Given the description of an element on the screen output the (x, y) to click on. 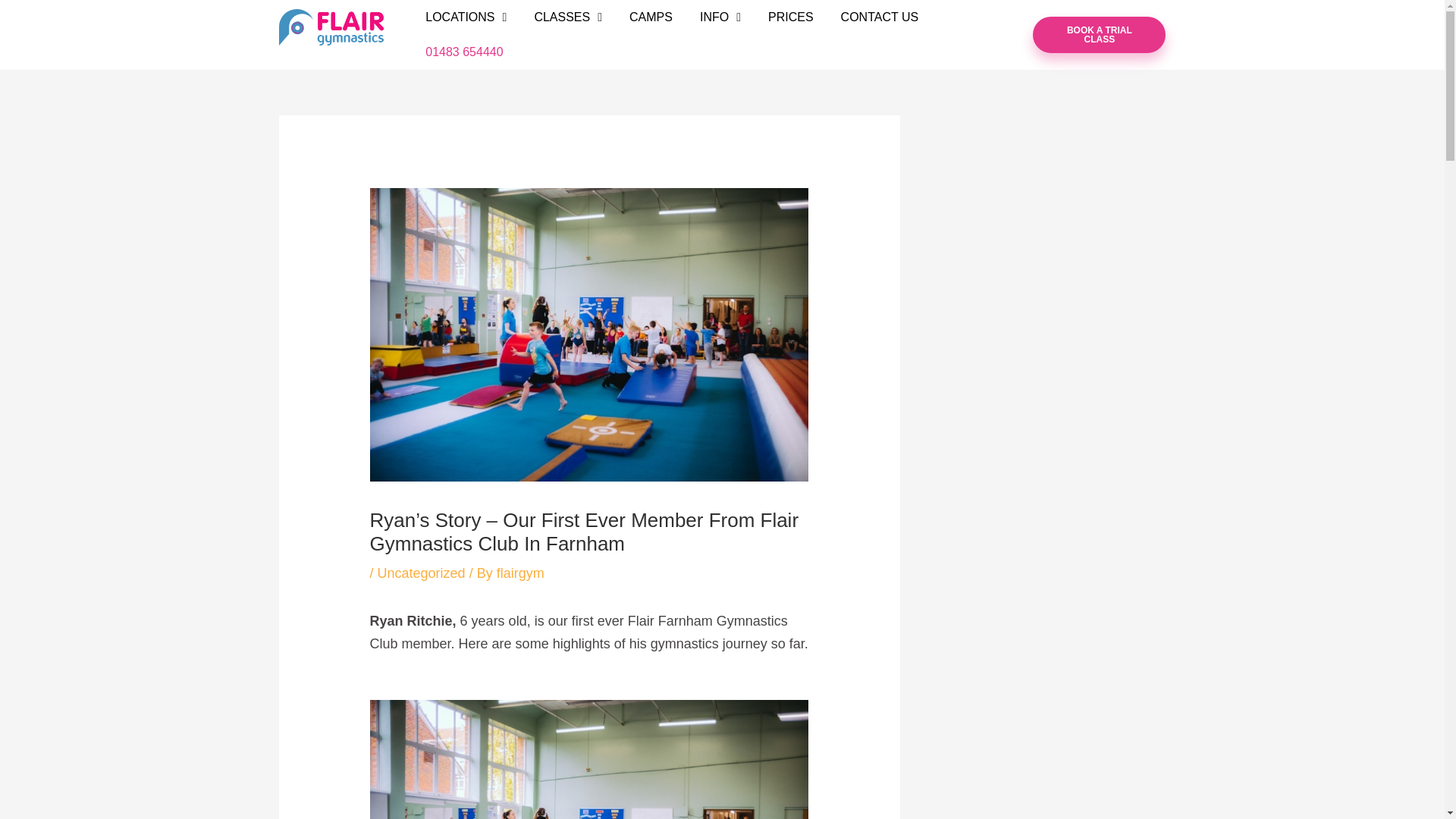
View all posts by flairgym (520, 572)
